Given the description of an element on the screen output the (x, y) to click on. 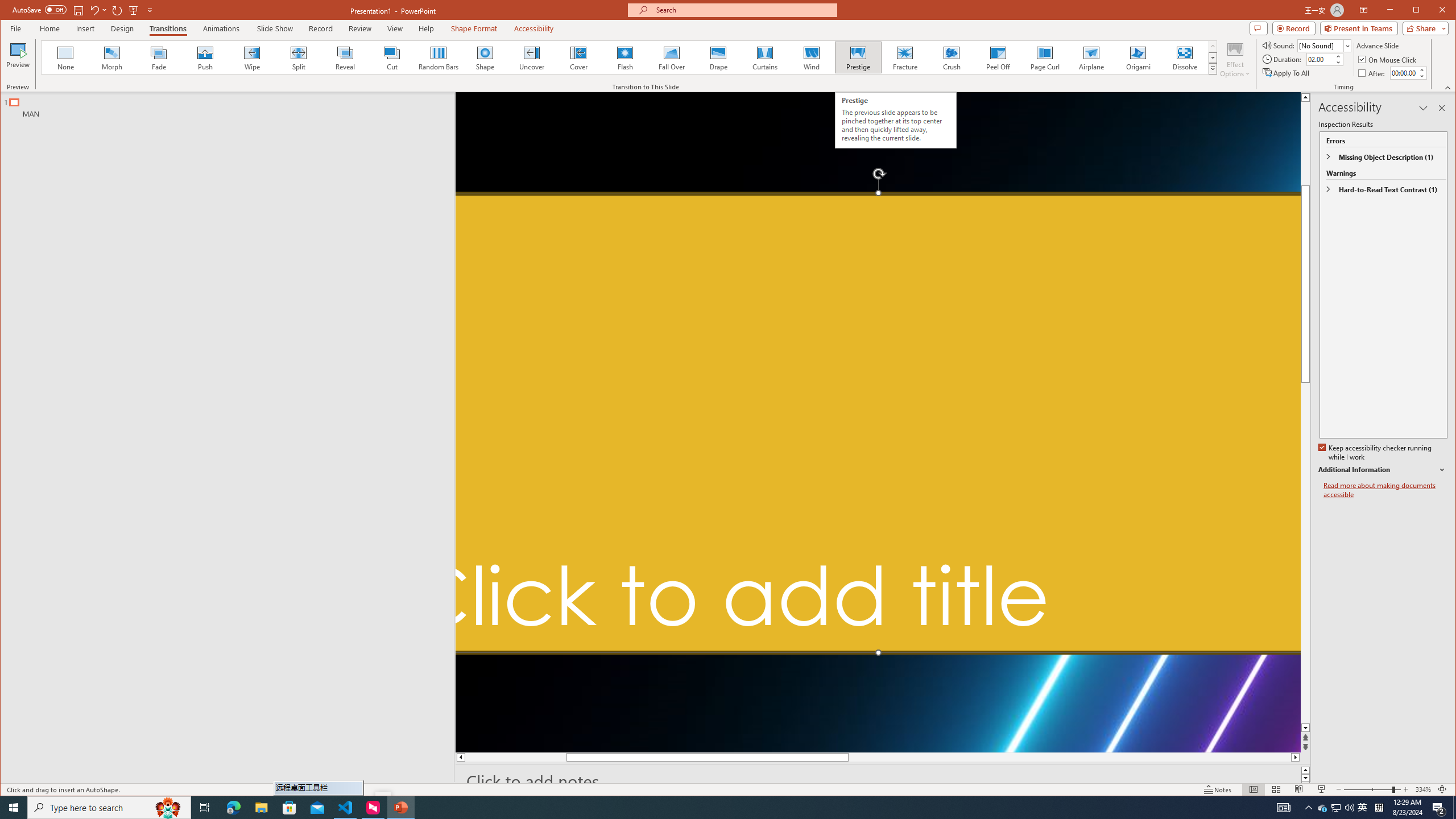
Neon laser lights aligned to form a triangle (877, 421)
AutomationID: AnimationTransitionGallery (629, 57)
Fall Over (670, 57)
